Given the description of an element on the screen output the (x, y) to click on. 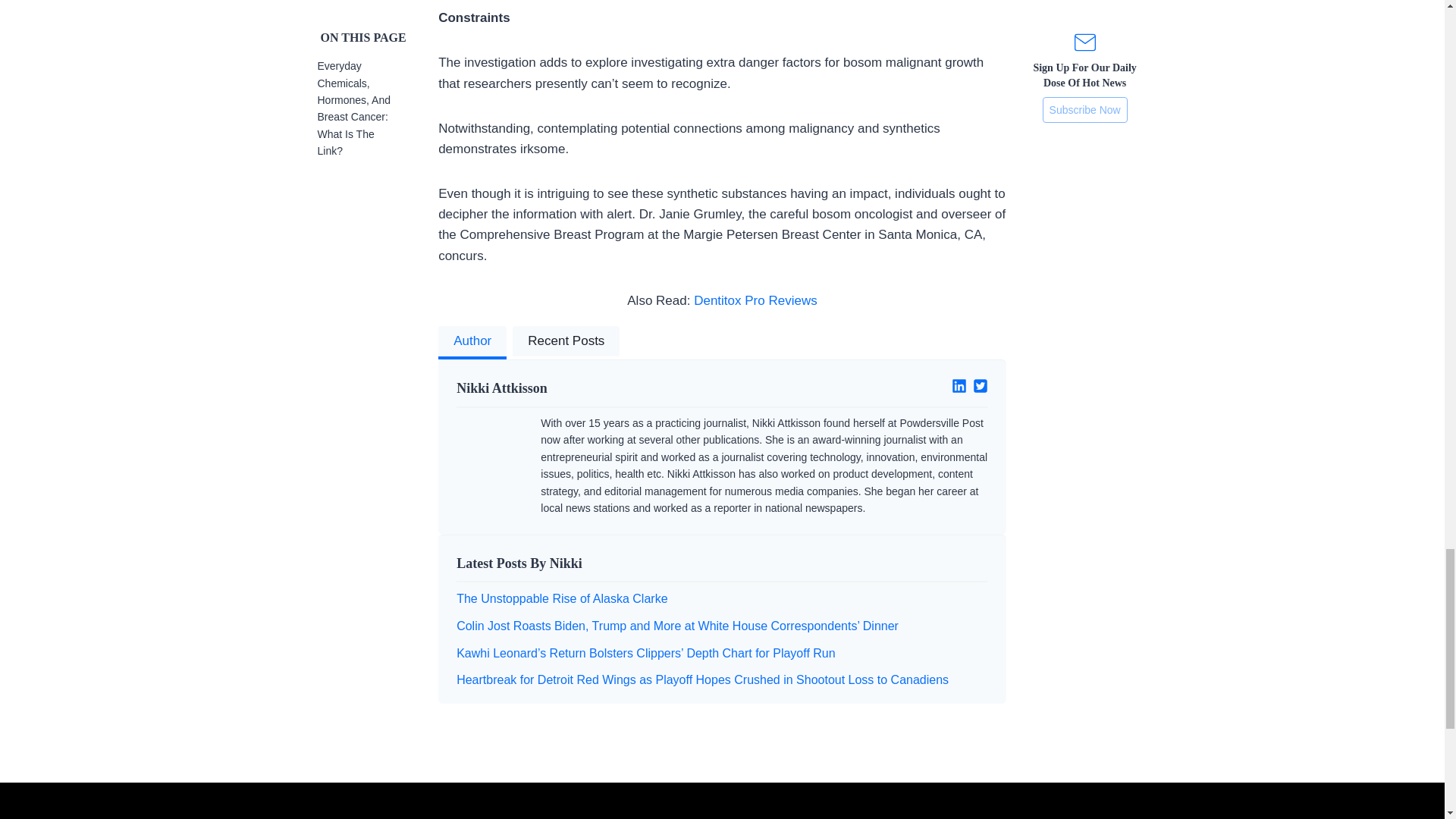
Recent Posts (566, 342)
The Unstoppable Rise of Alaska Clarke (561, 598)
Nikki Attkisson (583, 388)
Author (472, 342)
Dentitox Pro Reviews (755, 300)
